Given the description of an element on the screen output the (x, y) to click on. 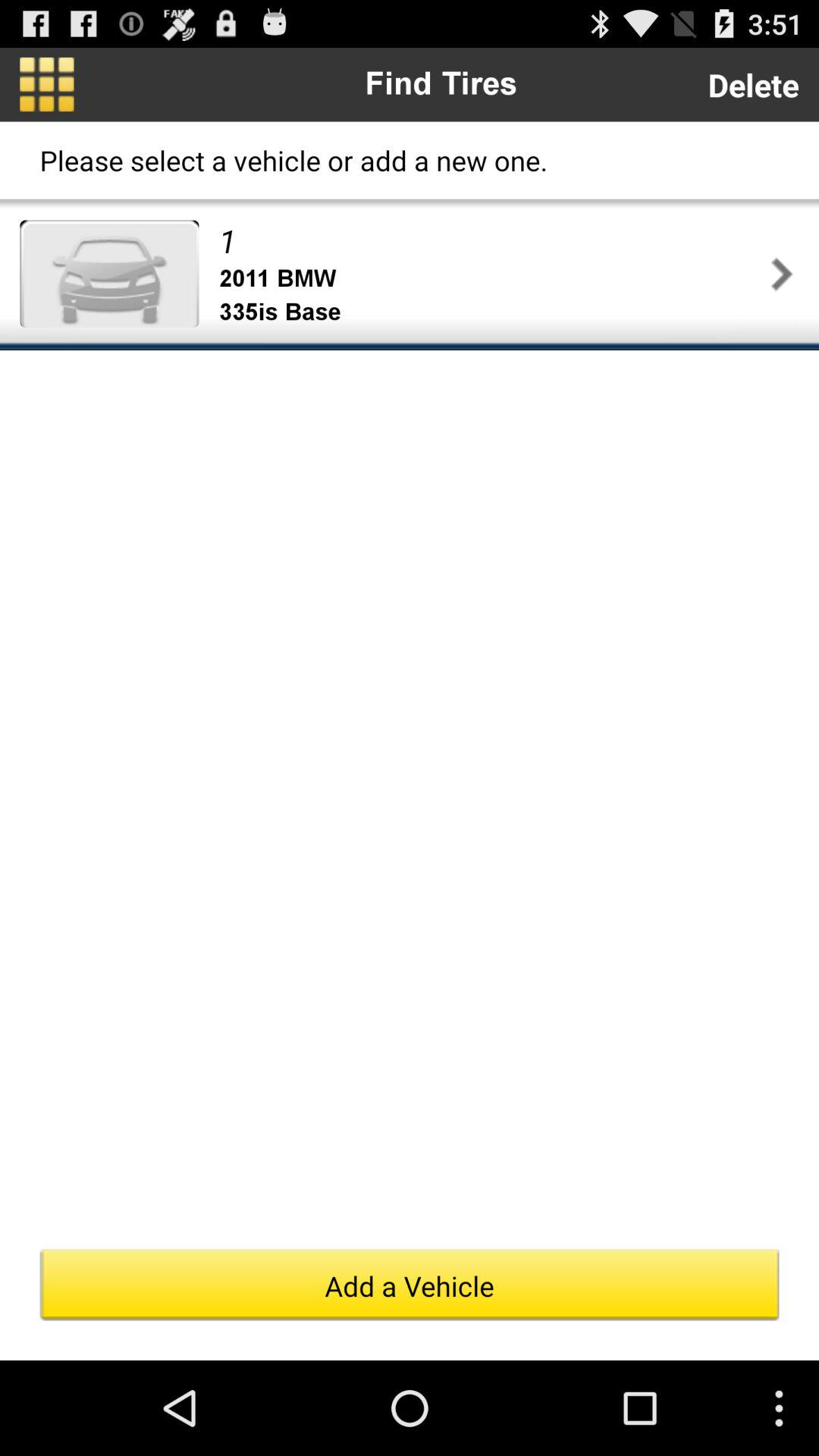
launch item above the 2011 bmw (491, 240)
